Given the description of an element on the screen output the (x, y) to click on. 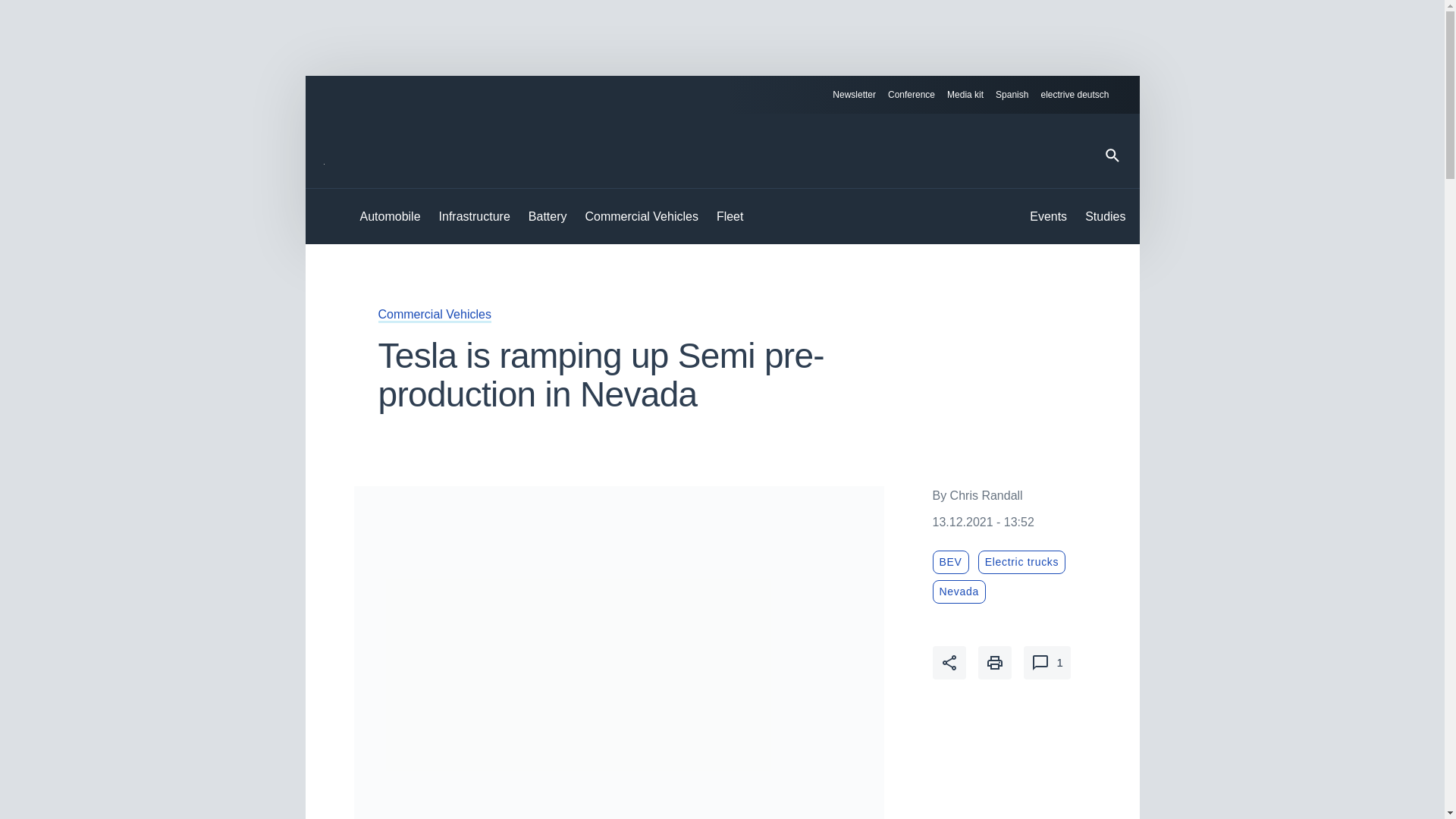
Infrastructure (475, 217)
Drucken (994, 662)
Studies (1104, 217)
electrive deutsch (1081, 95)
Automobile (389, 217)
Fleet (730, 217)
Kommentare (1046, 662)
Spanish (1011, 95)
Conference (911, 95)
Battery (547, 217)
Media kit (965, 95)
Newsletter (854, 95)
Commercial Vehicles (433, 314)
Events (1048, 217)
Commercial Vehicles (641, 217)
